Given the description of an element on the screen output the (x, y) to click on. 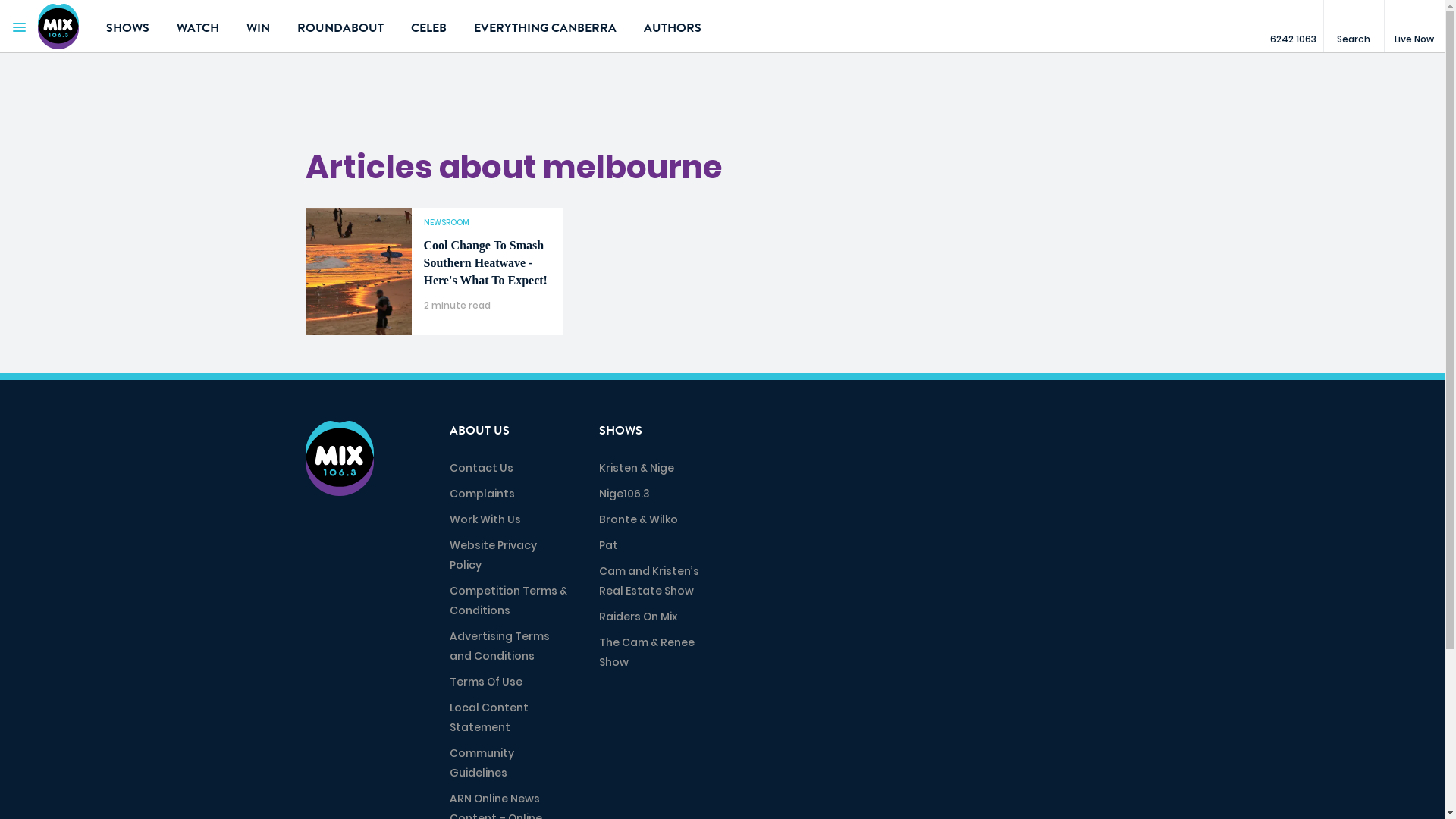
Work With Us Element type: text (484, 519)
Raiders On Mix Element type: text (638, 616)
AUTHORS Element type: text (672, 26)
WIN Element type: text (257, 26)
Pat Element type: text (608, 544)
Bronte & Wilko Element type: text (638, 519)
Terms Of Use Element type: text (484, 681)
Local Content Statement Element type: text (487, 716)
Complaints Element type: text (481, 493)
ABOUT US Element type: text (478, 430)
Kristen & Nige Element type: text (636, 467)
Live Now Element type: text (1413, 26)
WATCH Element type: text (197, 26)
ROUNDABOUT Element type: text (340, 26)
The Cam & Renee Show Element type: text (646, 651)
Advertising Terms and Conditions Element type: text (498, 645)
Nige106.3 Element type: text (624, 493)
Contact Us Element type: text (480, 467)
SHOWS Element type: text (620, 430)
6242 1063 Element type: text (1292, 26)
Website Privacy Policy Element type: text (492, 554)
Competition Terms & Conditions Element type: text (507, 600)
Community Guidelines Element type: text (480, 762)
SHOWS Element type: text (127, 26)
EVERYTHING CANBERRA Element type: text (544, 26)
CELEB Element type: text (428, 26)
Menu Element type: text (18, 26)
Search Element type: text (1353, 26)
